Given the description of an element on the screen output the (x, y) to click on. 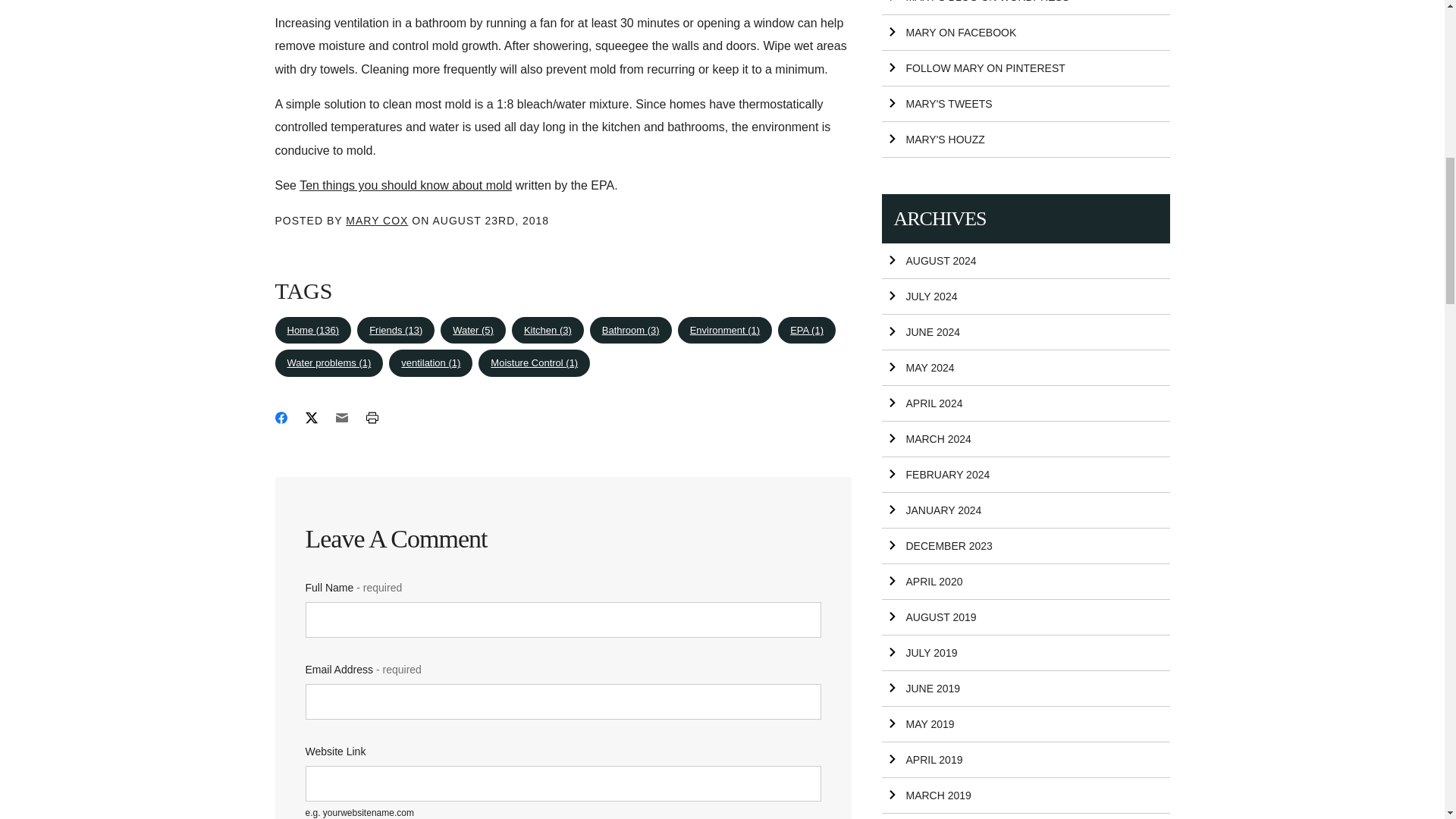
Ten things you should know about mold (405, 185)
Water (473, 329)
Moisture Control (534, 362)
Kitchen (547, 329)
Environment (724, 329)
ventilation (429, 362)
Home (312, 329)
Bathroom (630, 329)
Friends (394, 329)
Water problems (328, 362)
